Given the description of an element on the screen output the (x, y) to click on. 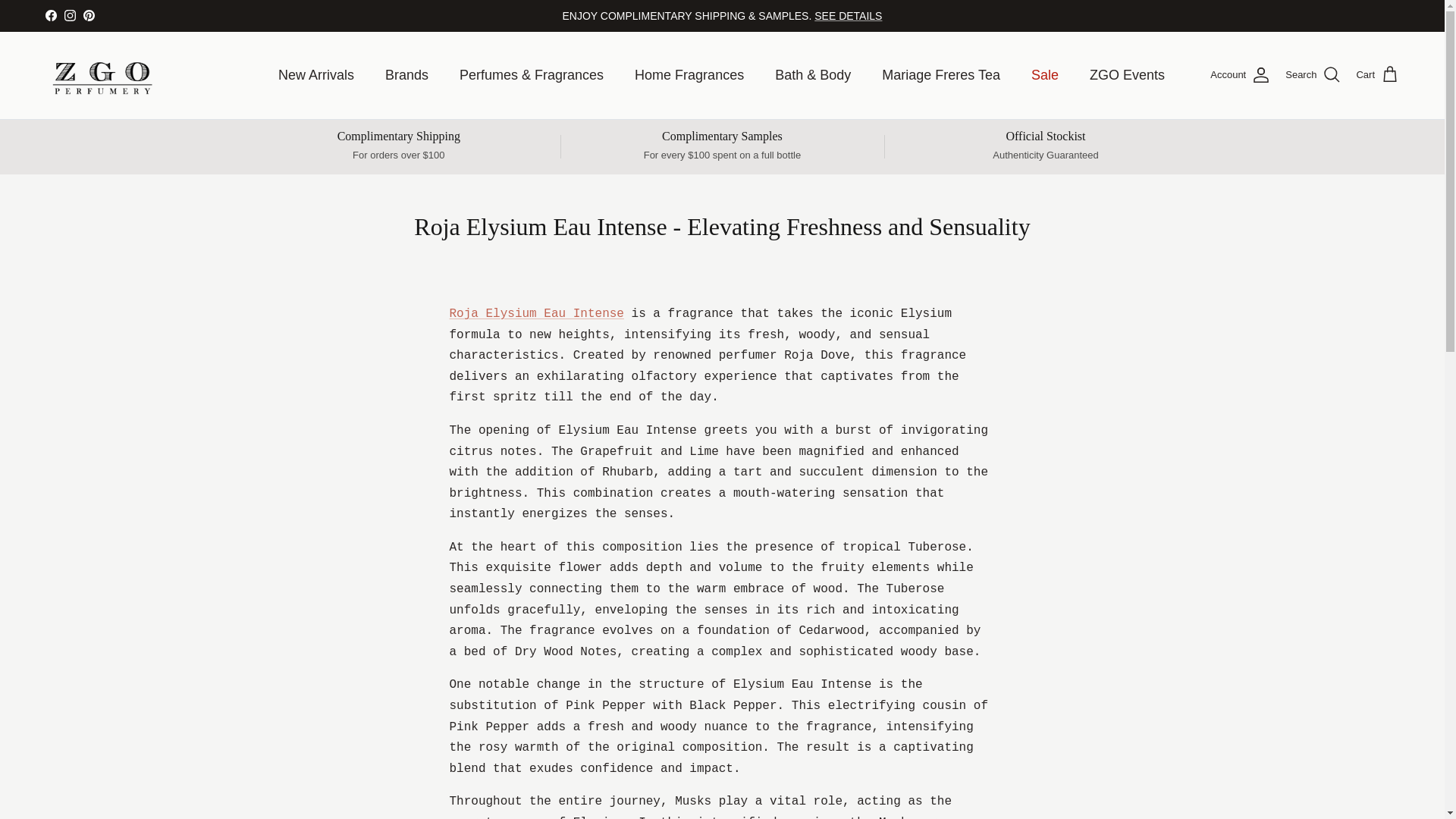
New Arrivals (316, 75)
Account (1239, 75)
Complimentary Shipping and Samples (847, 15)
Brands (406, 75)
Search (1312, 75)
ZGO Perfumery on Pinterest (88, 15)
Instagram (69, 15)
SEE DETAILS (847, 15)
ZGO Events (1126, 75)
Pinterest (88, 15)
